Given the description of an element on the screen output the (x, y) to click on. 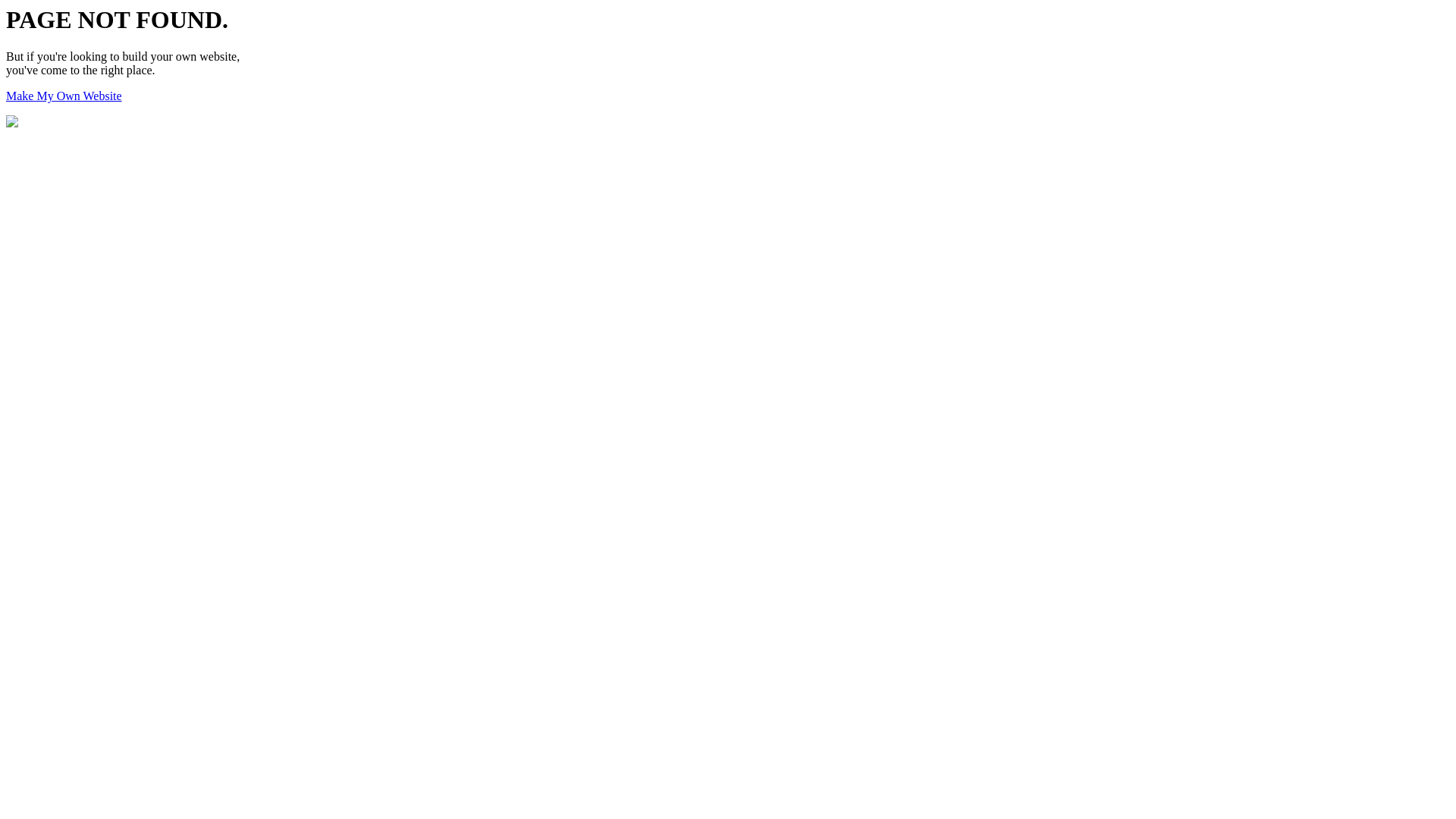
Make My Own Website Element type: text (64, 95)
